Given the description of an element on the screen output the (x, y) to click on. 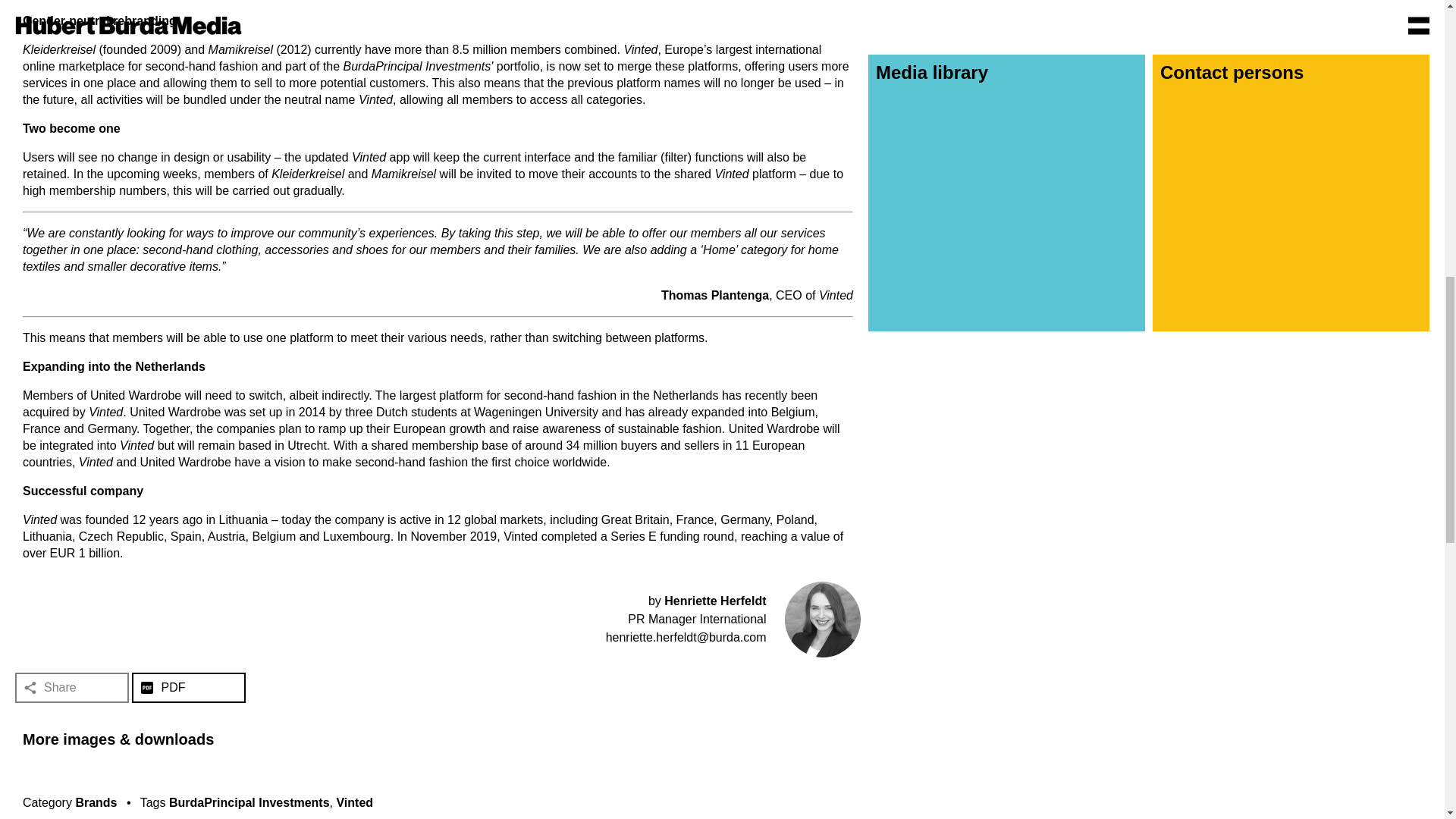
PDF (189, 687)
Share (71, 687)
Vinted (354, 802)
BurdaPrincipal Investments (249, 802)
Brands (95, 802)
